Given the description of an element on the screen output the (x, y) to click on. 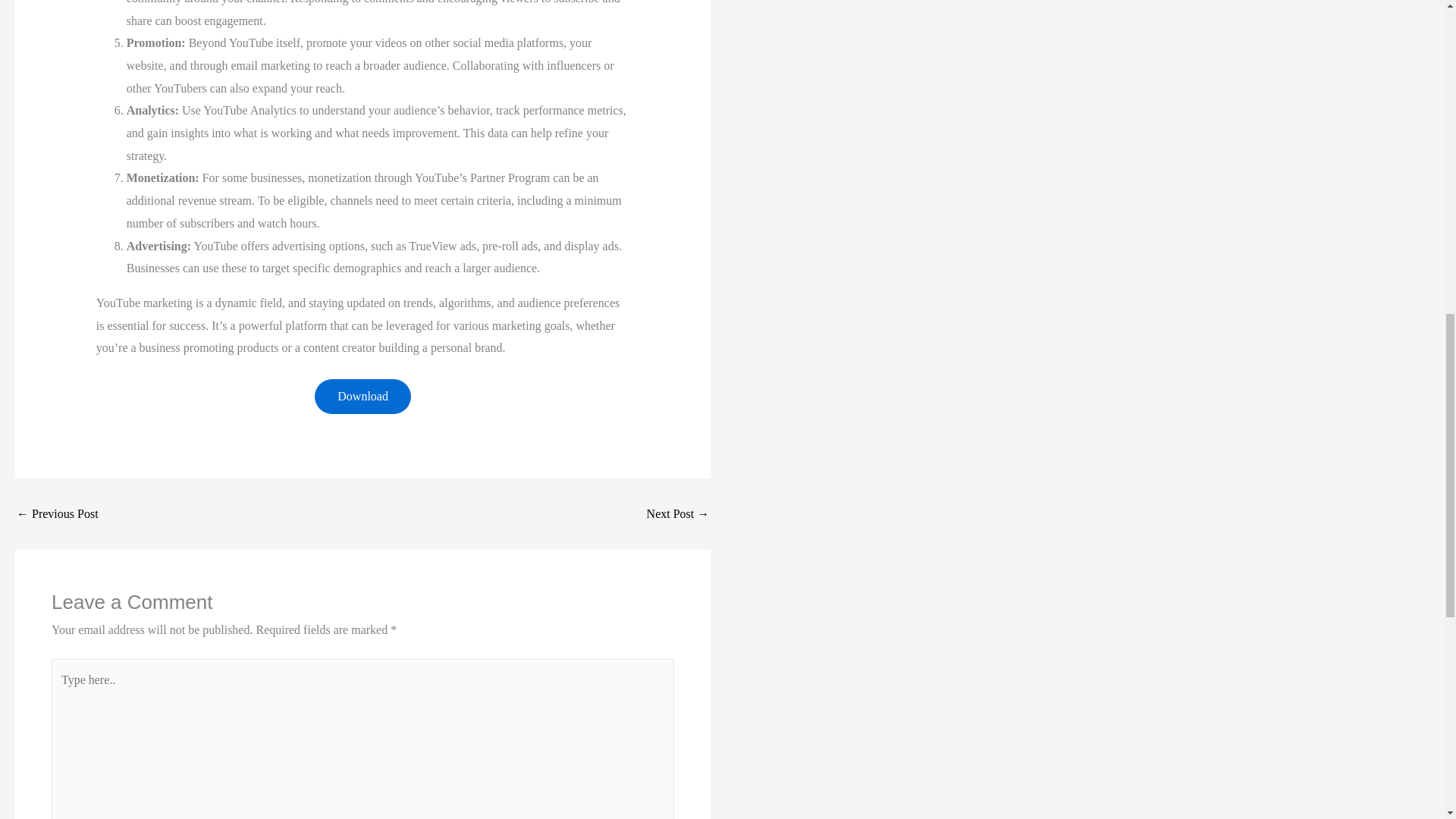
Jason K Williamson - eCom Email Marketing Masterclass: (57, 513)
Download (362, 396)
Instagram marketing Course (678, 513)
